Given the description of an element on the screen output the (x, y) to click on. 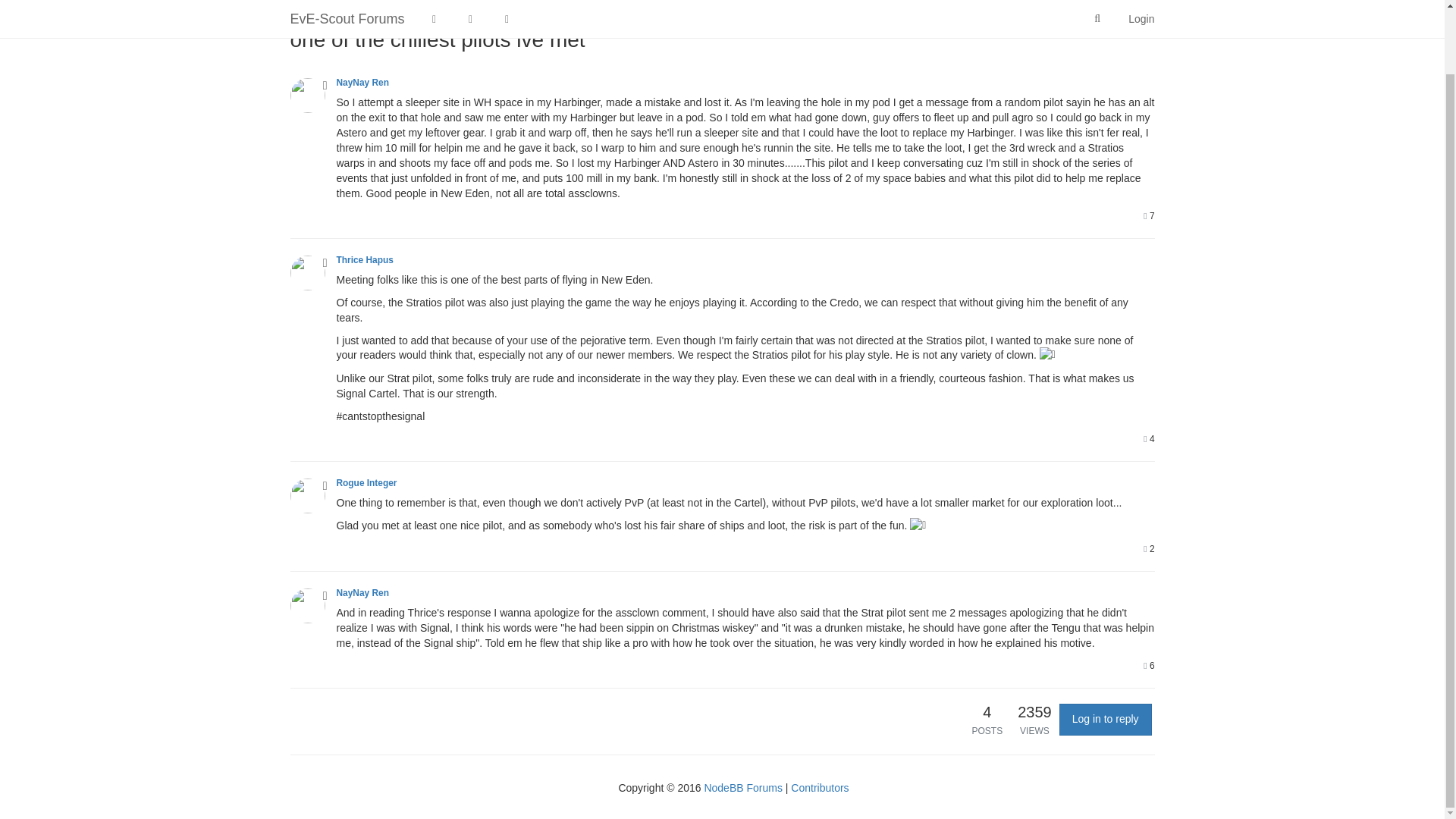
Thrice Hapus (364, 259)
Offline (325, 485)
Offline (325, 263)
NayNay Ren (362, 81)
Offline (325, 85)
